Given the description of an element on the screen output the (x, y) to click on. 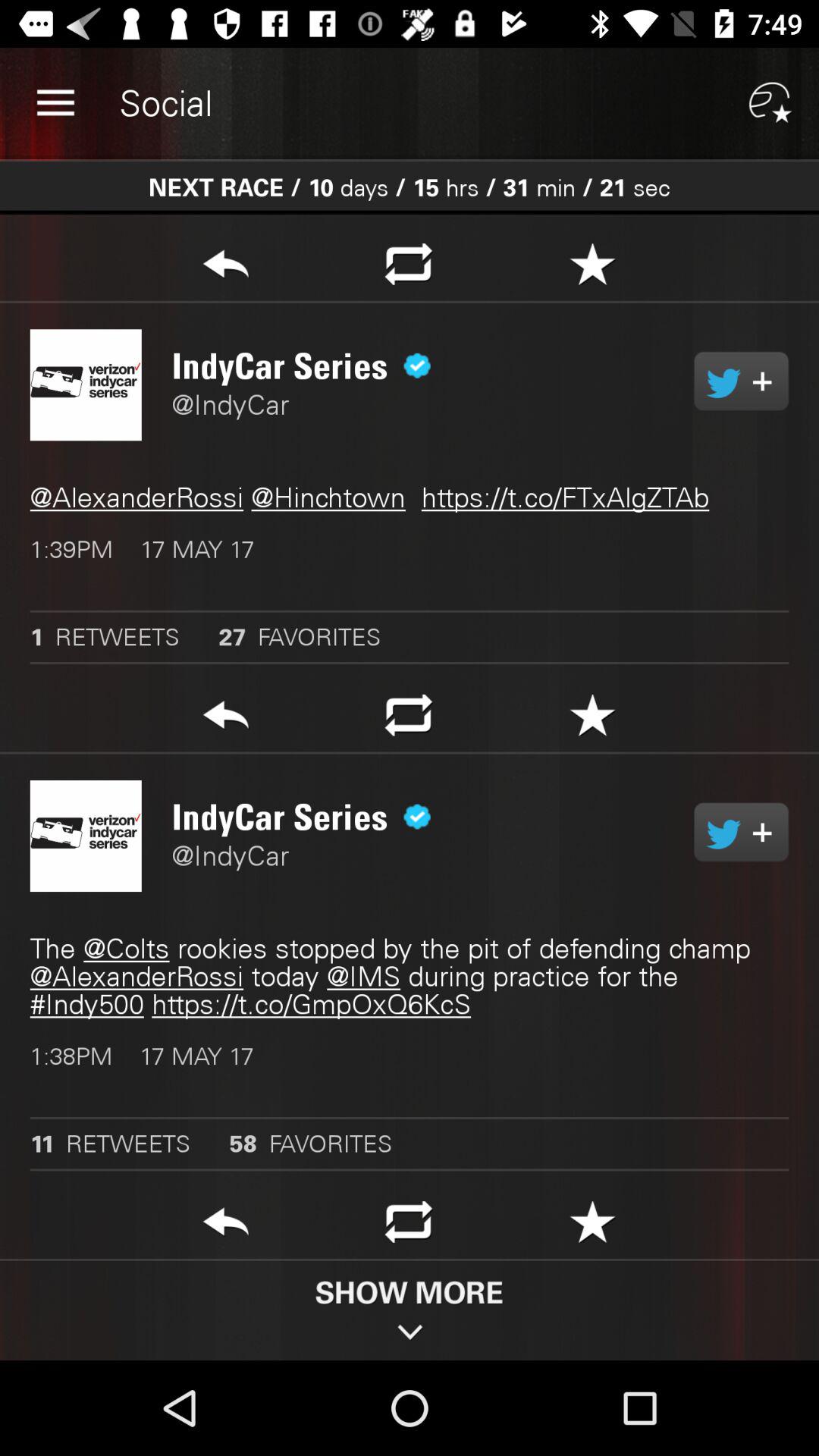
favorites the tweet (592, 1226)
